Given the description of an element on the screen output the (x, y) to click on. 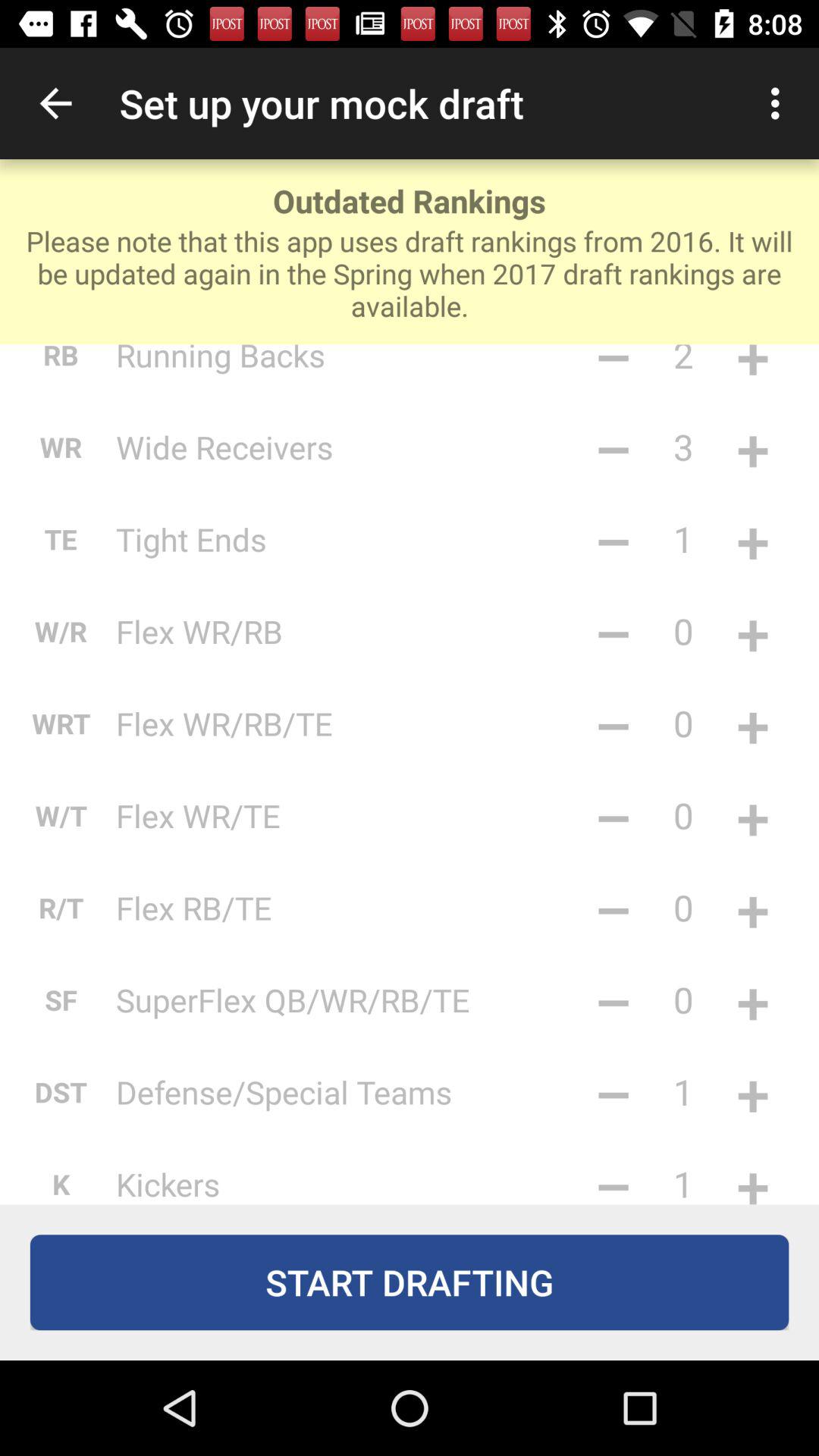
tap the item next to 0 (613, 907)
